Given the description of an element on the screen output the (x, y) to click on. 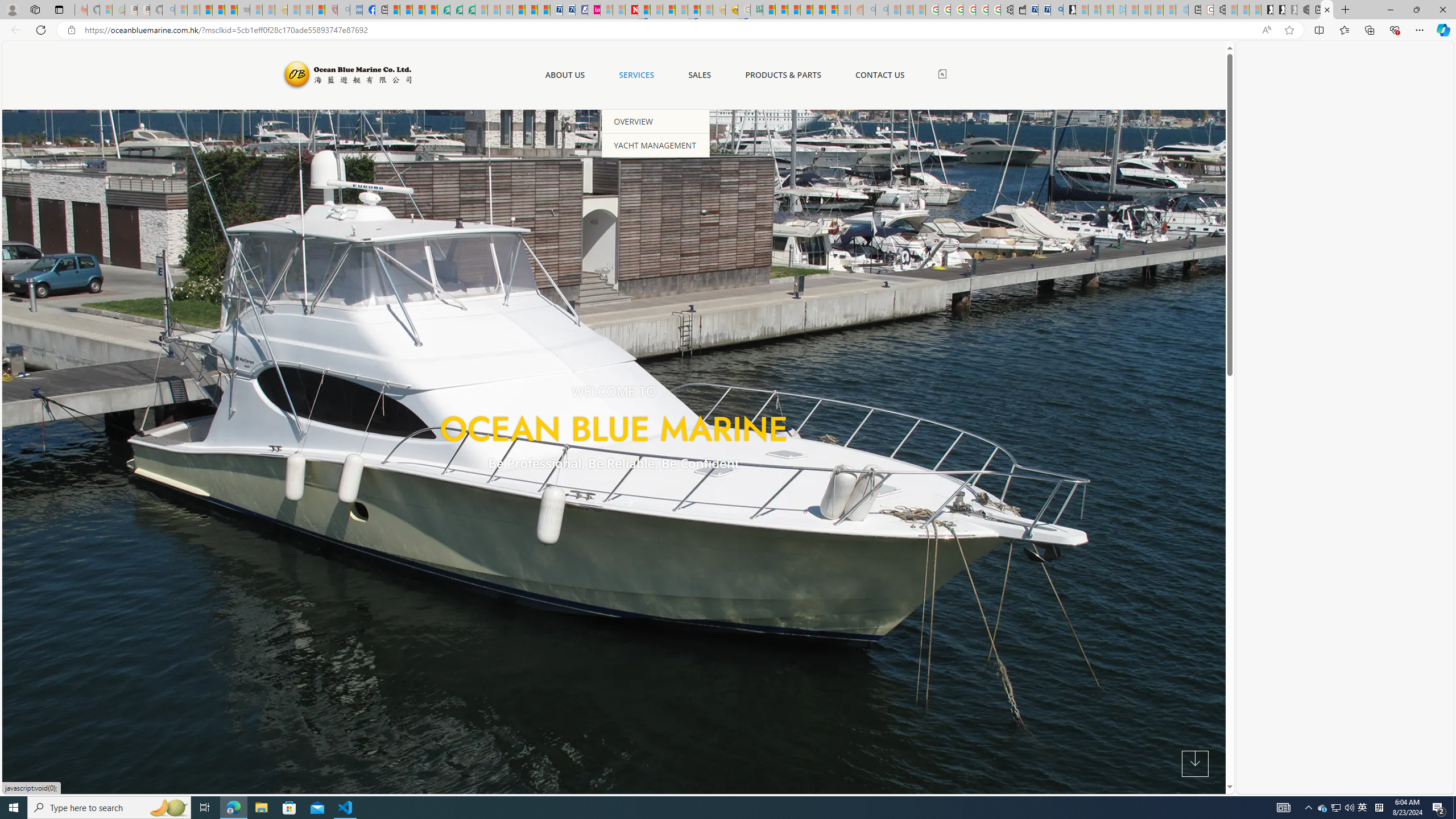
Ocean Blue Marine (345, 74)
LendingTree - Compare Lenders (443, 9)
Expert Portfolios (806, 9)
YACHT MANAGEMENT (656, 144)
PRODUCTS & PARTS (783, 75)
Microsoft Word - consumer-privacy address update 2.2021 (468, 9)
